Given the description of an element on the screen output the (x, y) to click on. 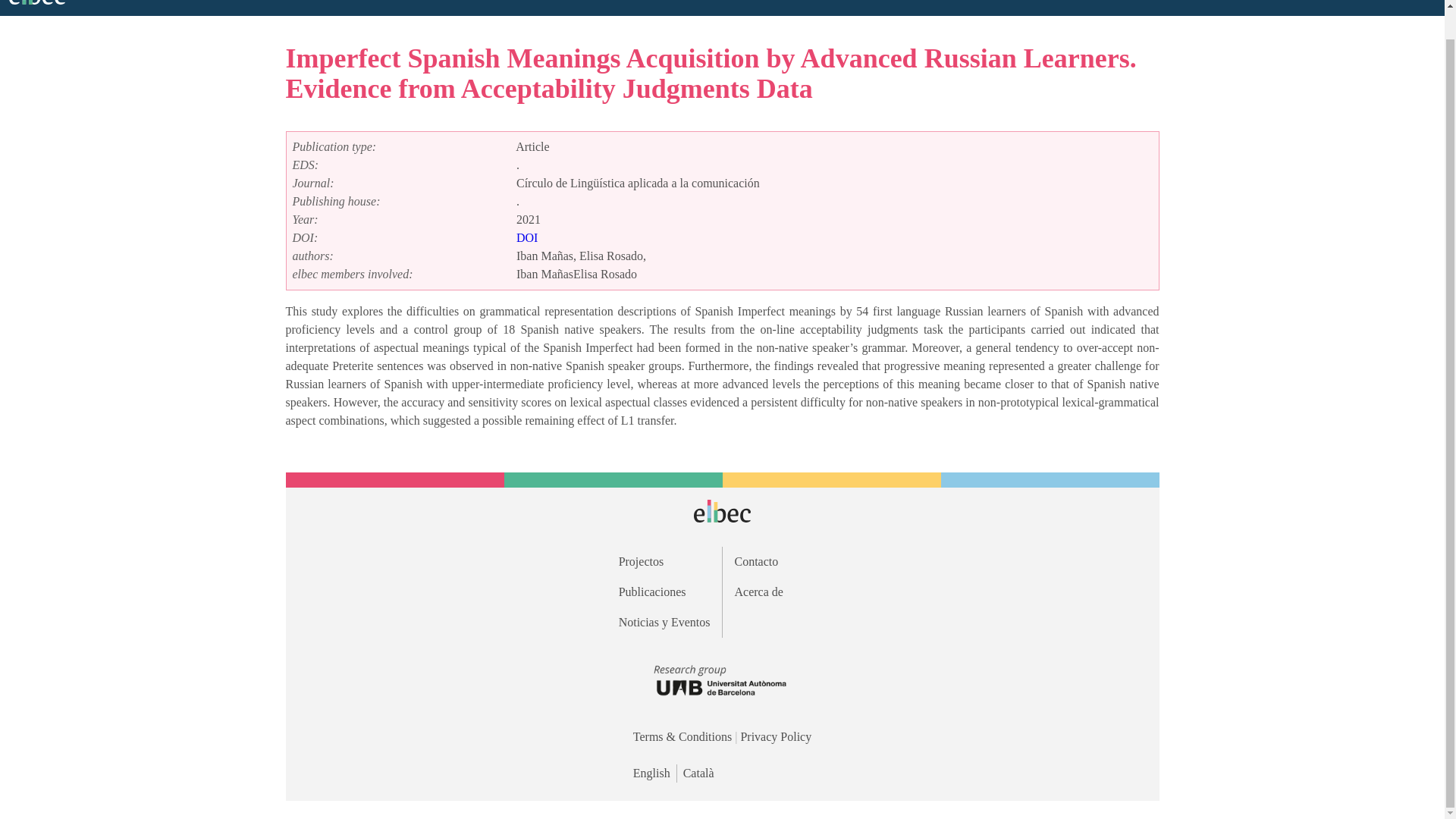
Projectos (664, 561)
English (655, 773)
Contacto (779, 561)
Noticias y Eventos (664, 622)
Acerca de (779, 592)
Privacy Policy (774, 736)
Publicaciones (664, 592)
DOI (526, 237)
